Given the description of an element on the screen output the (x, y) to click on. 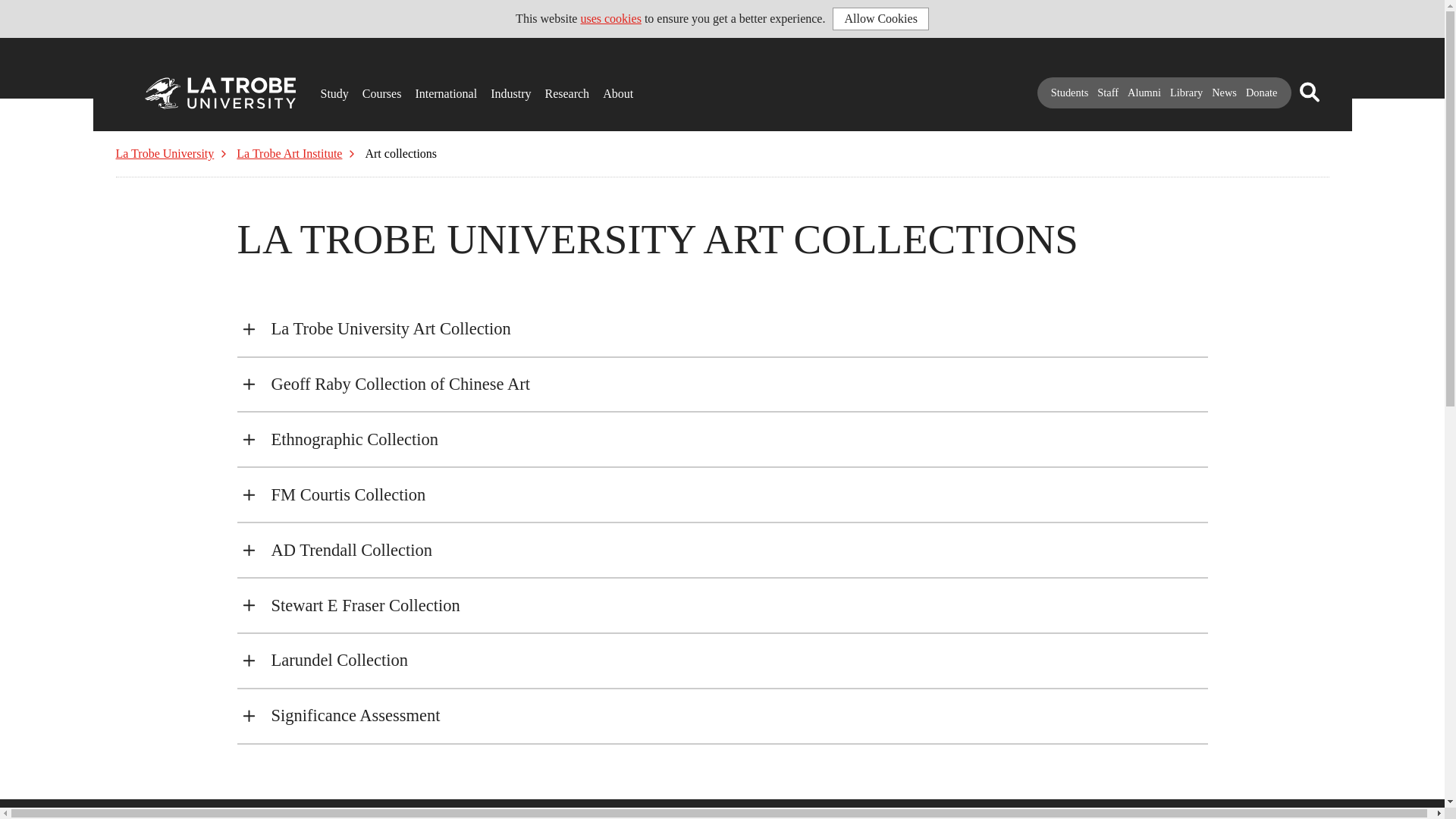
International students (419, 88)
Research (549, 88)
uses cookies (609, 18)
Library (1186, 92)
Research (549, 88)
Students (1070, 92)
Alumni (1143, 92)
About (607, 88)
Study with us (325, 88)
International students (419, 88)
Allow Cookies (880, 18)
Donate (1262, 92)
Industry and Community (495, 88)
Courses (367, 88)
About (607, 88)
